Given the description of an element on the screen output the (x, y) to click on. 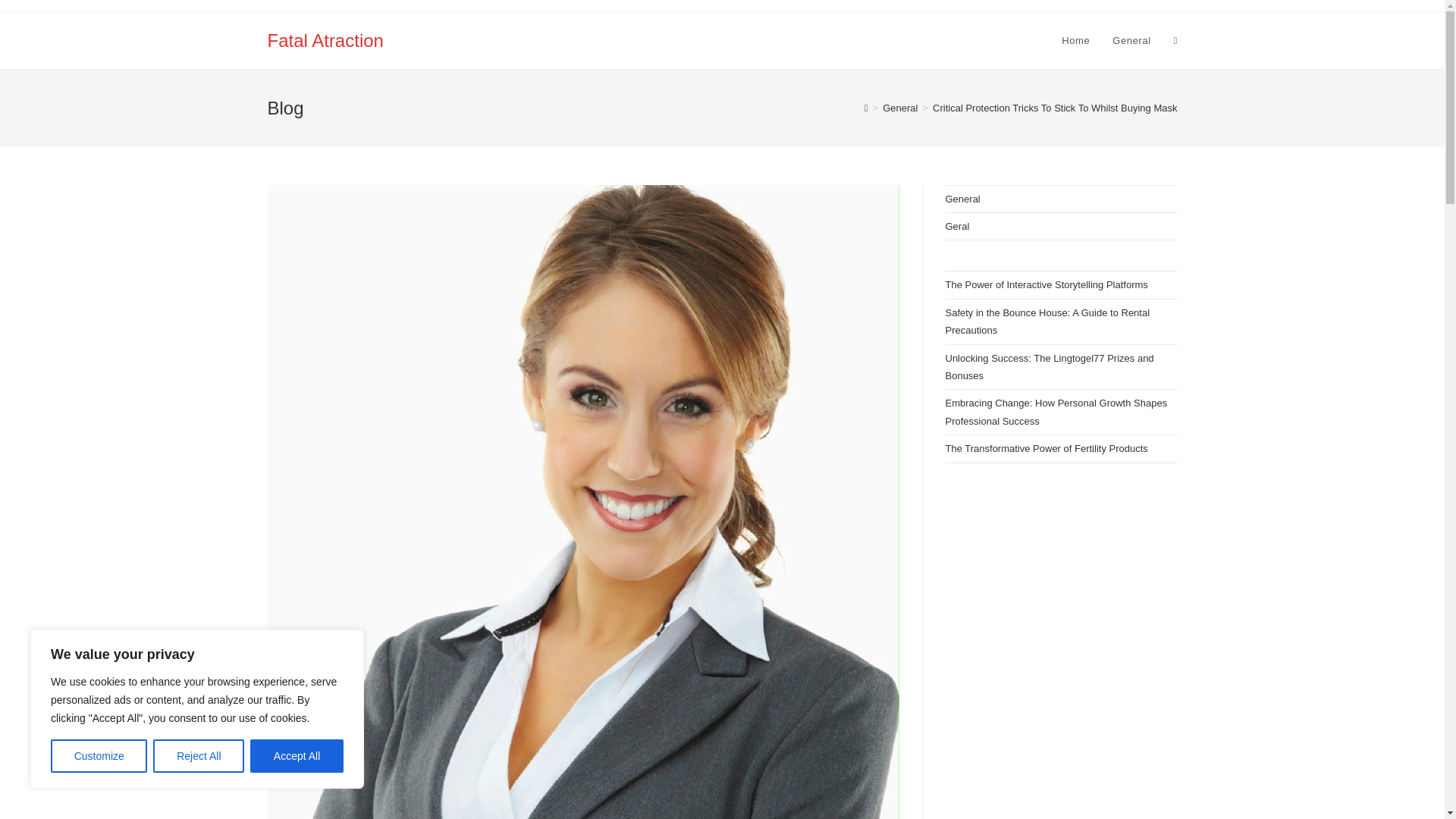
Accept All (296, 756)
Home (1074, 40)
Customize (98, 756)
Reject All (198, 756)
Critical Protection Tricks To Stick To Whilst Buying Mask (1054, 107)
General (1130, 40)
Fatal Atraction (324, 40)
General (899, 107)
